Given the description of an element on the screen output the (x, y) to click on. 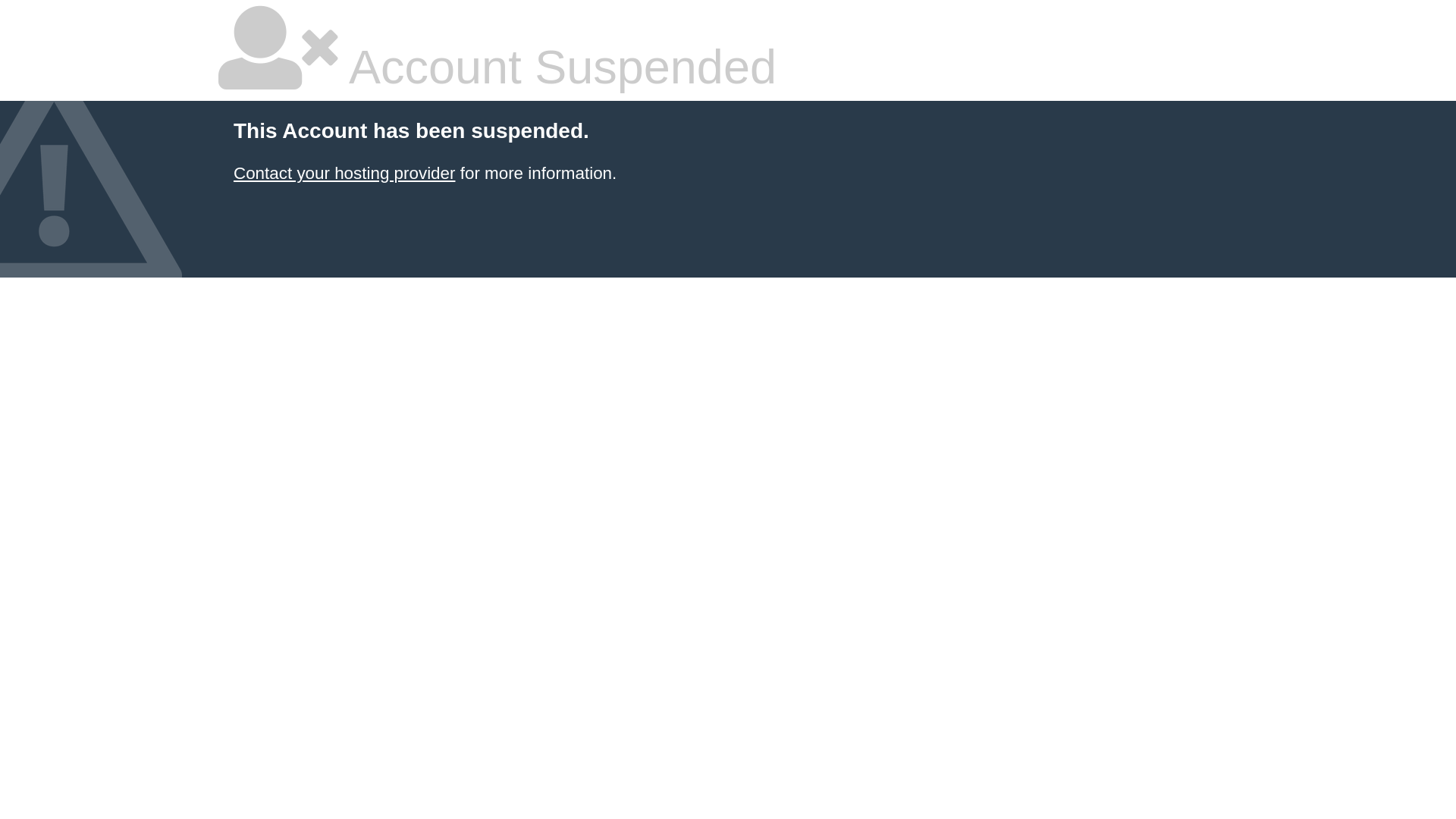
Contact your hosting provider Element type: text (344, 172)
